Given the description of an element on the screen output the (x, y) to click on. 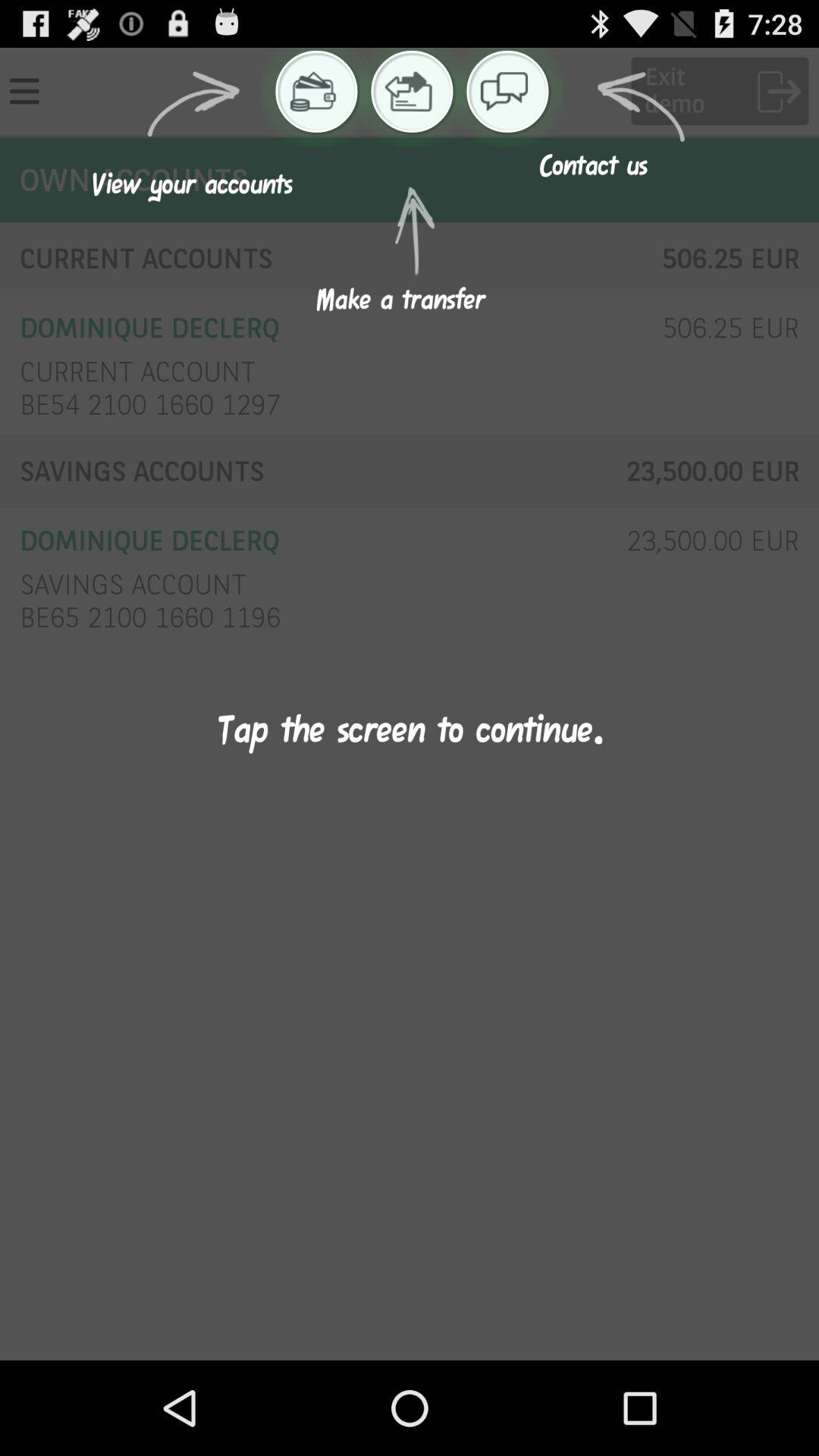
select the view your account icon (313, 91)
click on the icon which is left to chat (408, 91)
